Given the description of an element on the screen output the (x, y) to click on. 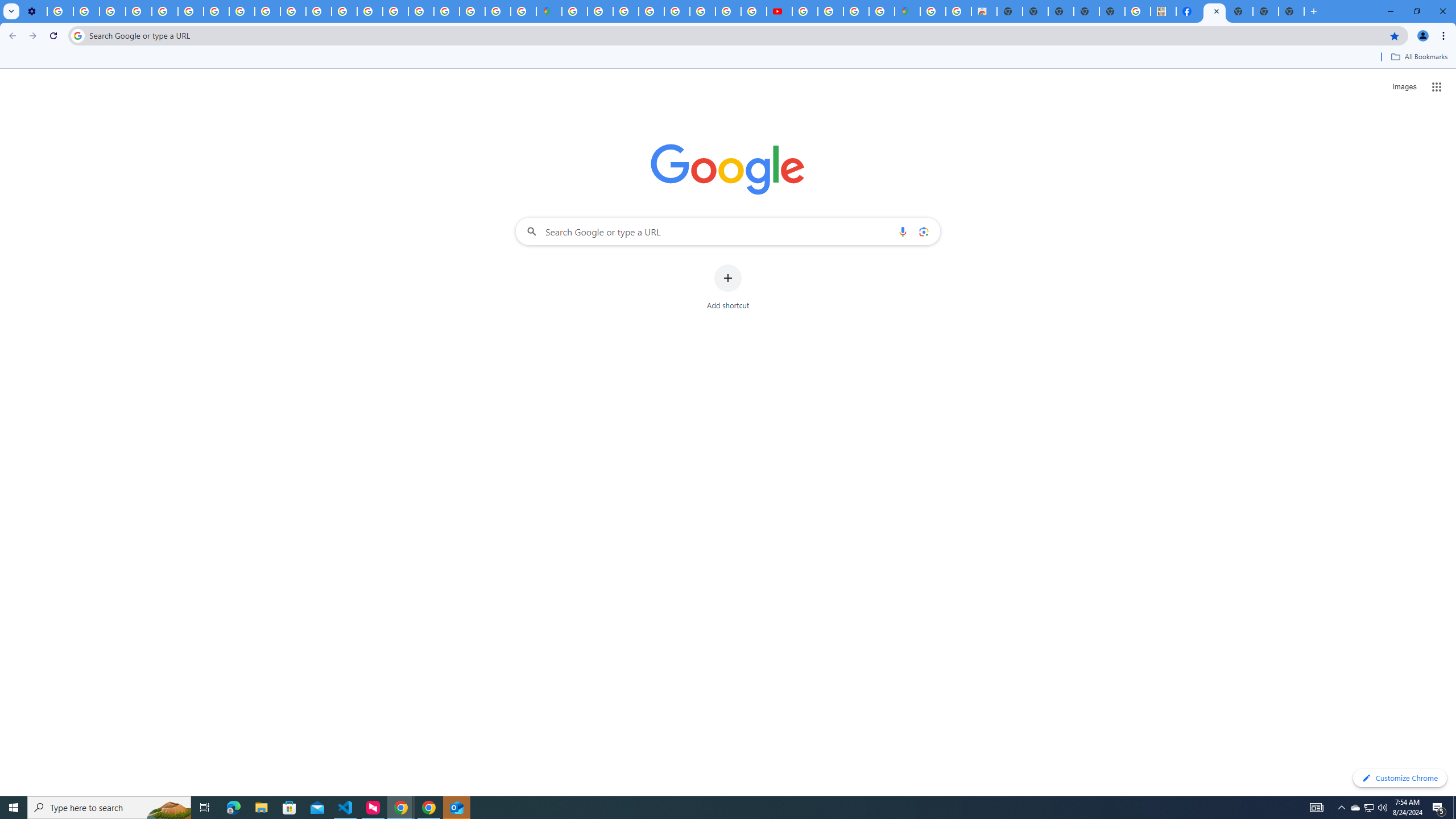
Sign in - Google Accounts (574, 11)
Search icon (77, 35)
Add shortcut (727, 287)
Privacy Checkup (293, 11)
YouTube (190, 11)
